Given the description of an element on the screen output the (x, y) to click on. 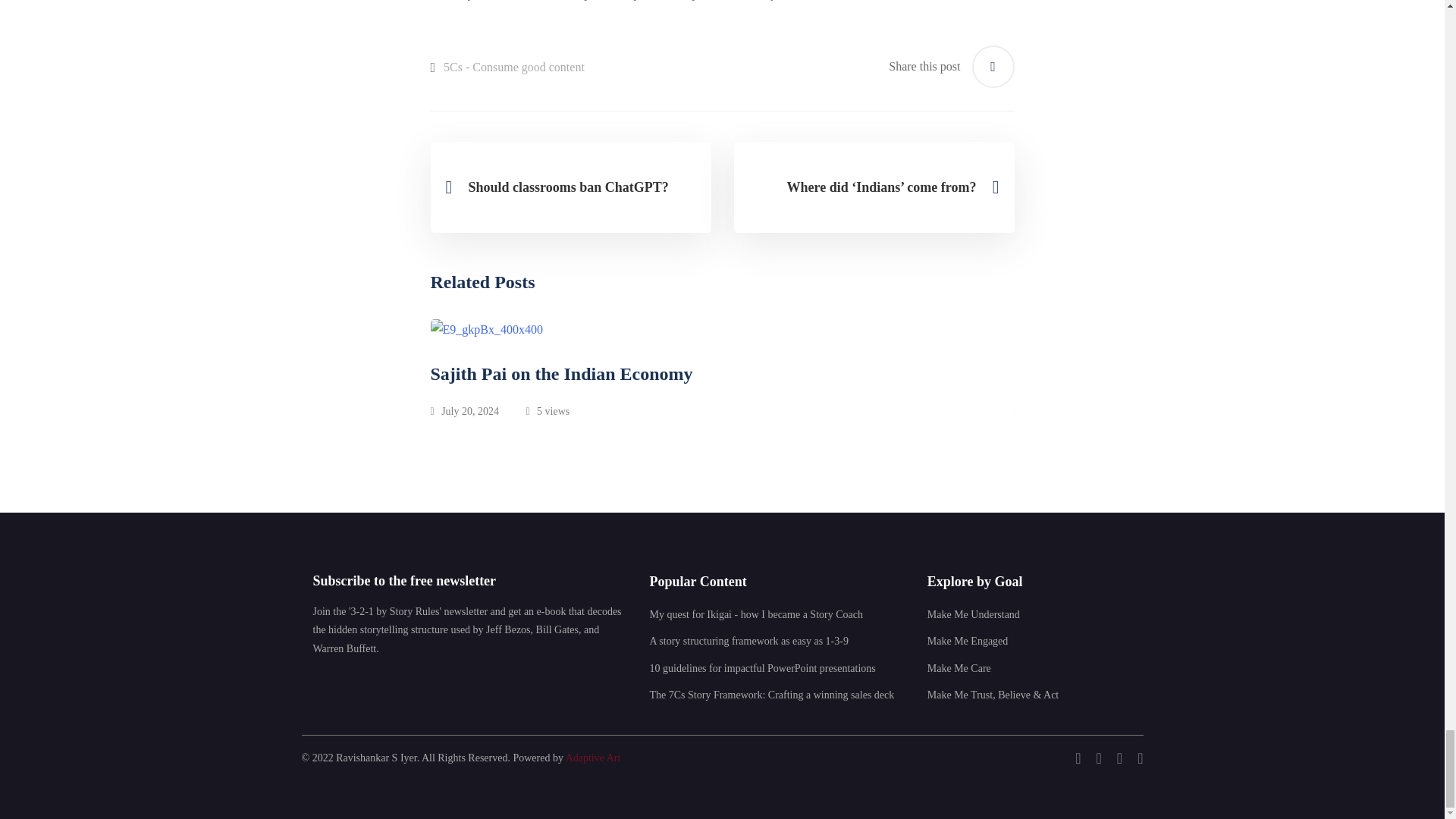
5Cs - Consume good content (514, 66)
Sajith Pai on the Indian Economy  (722, 373)
Should classrooms ban ChatGPT? (570, 186)
